Given the description of an element on the screen output the (x, y) to click on. 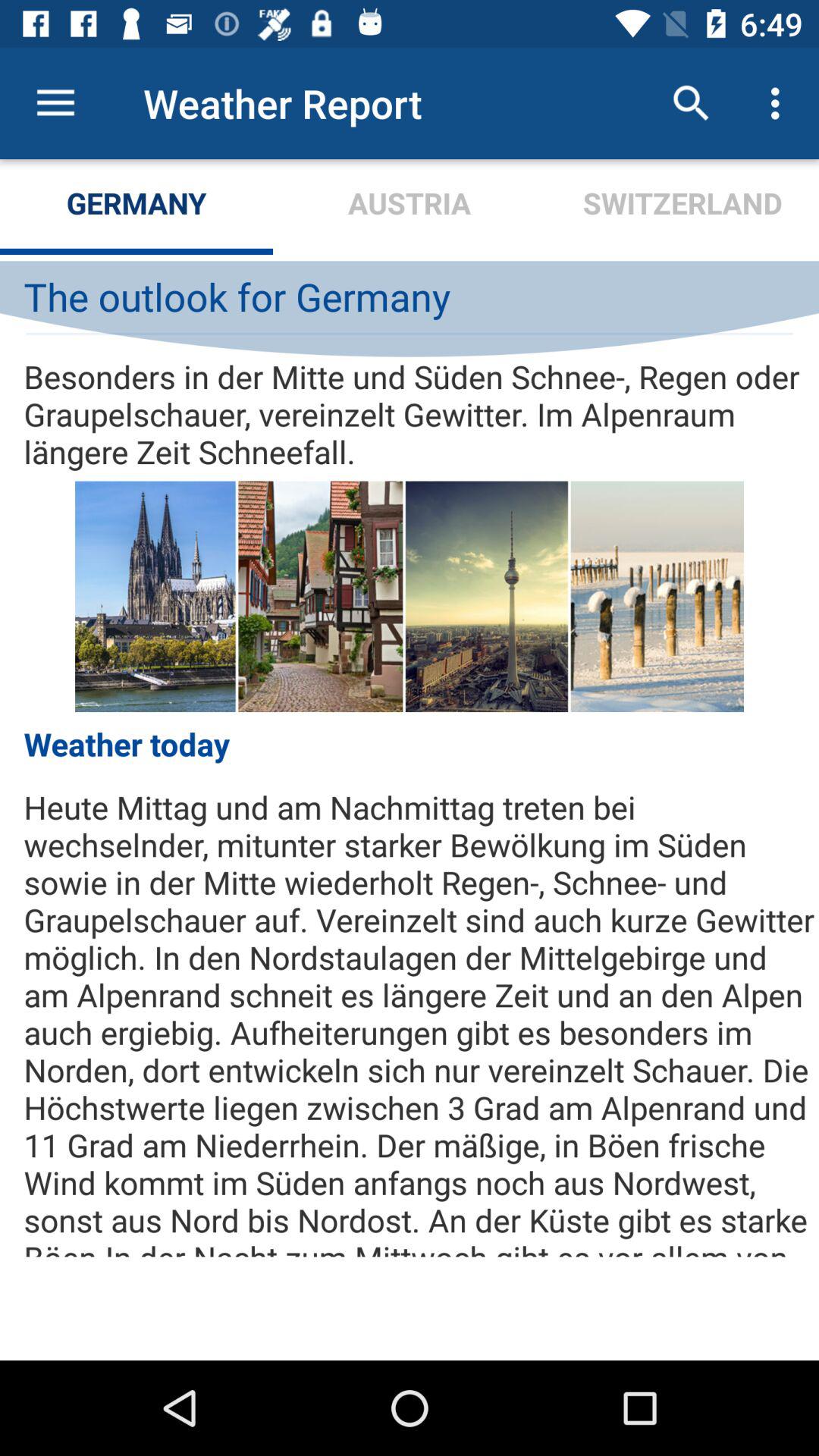
turn off the austria item (409, 206)
